Given the description of an element on the screen output the (x, y) to click on. 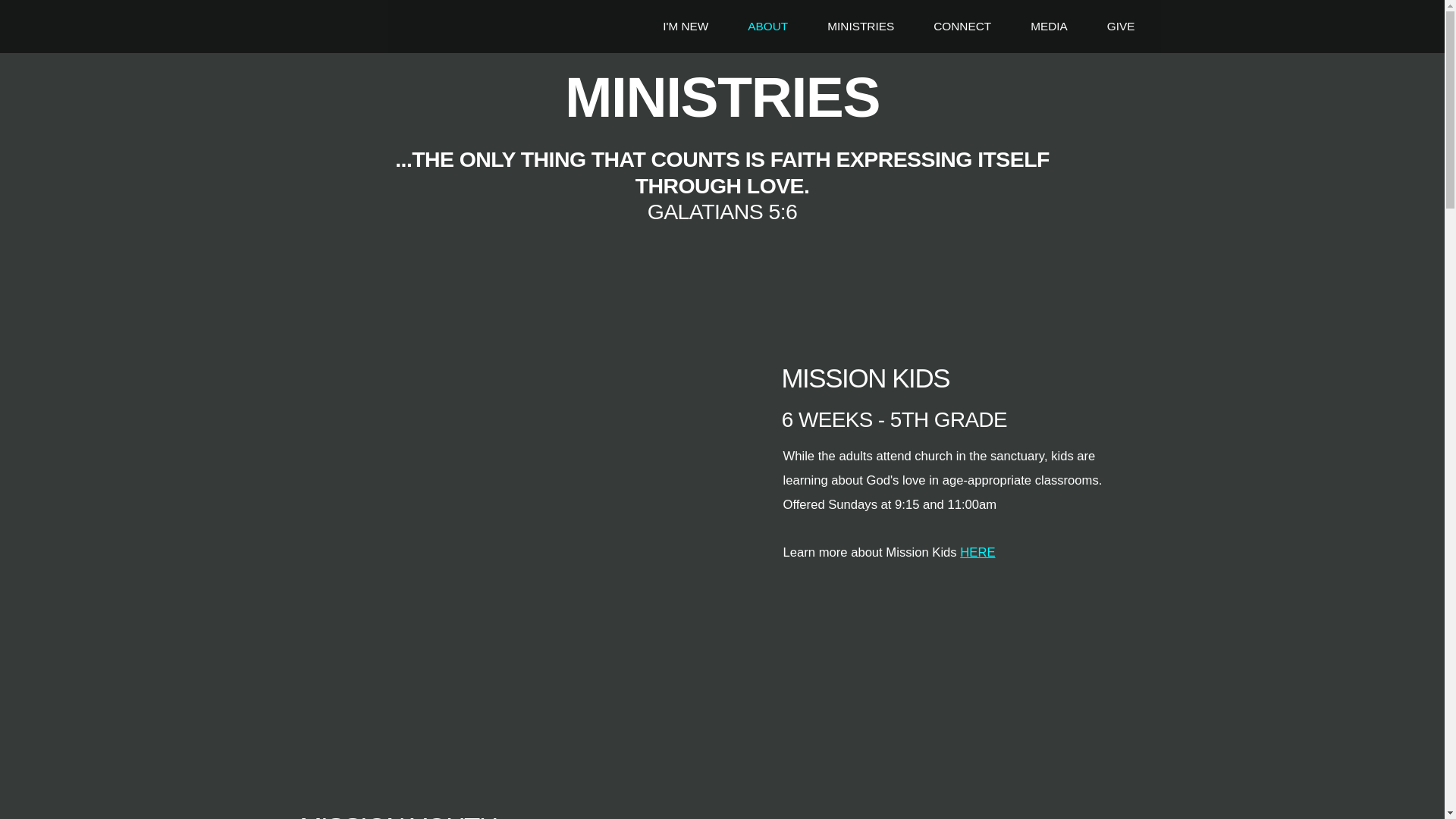
CONNECT (962, 26)
GIVE (1120, 26)
MINISTRIES (860, 26)
MEDIA (1048, 26)
I'M NEW (684, 26)
ABOUT (767, 26)
